Given the description of an element on the screen output the (x, y) to click on. 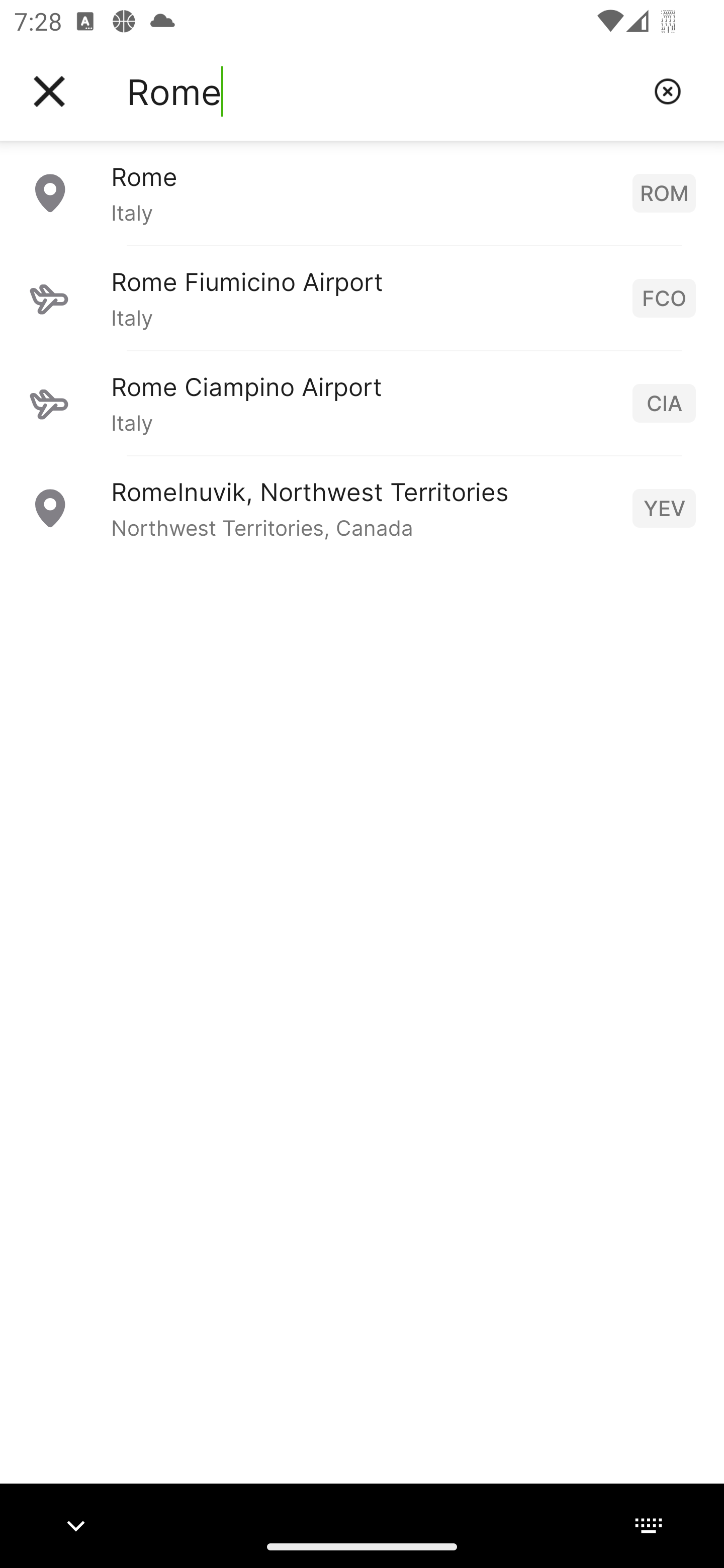
Rome (382, 91)
Rome Italy ROM (362, 192)
Rome Fiumicino Airport Italy FCO (362, 297)
Rome Ciampino Airport Italy CIA (362, 402)
